Given the description of an element on the screen output the (x, y) to click on. 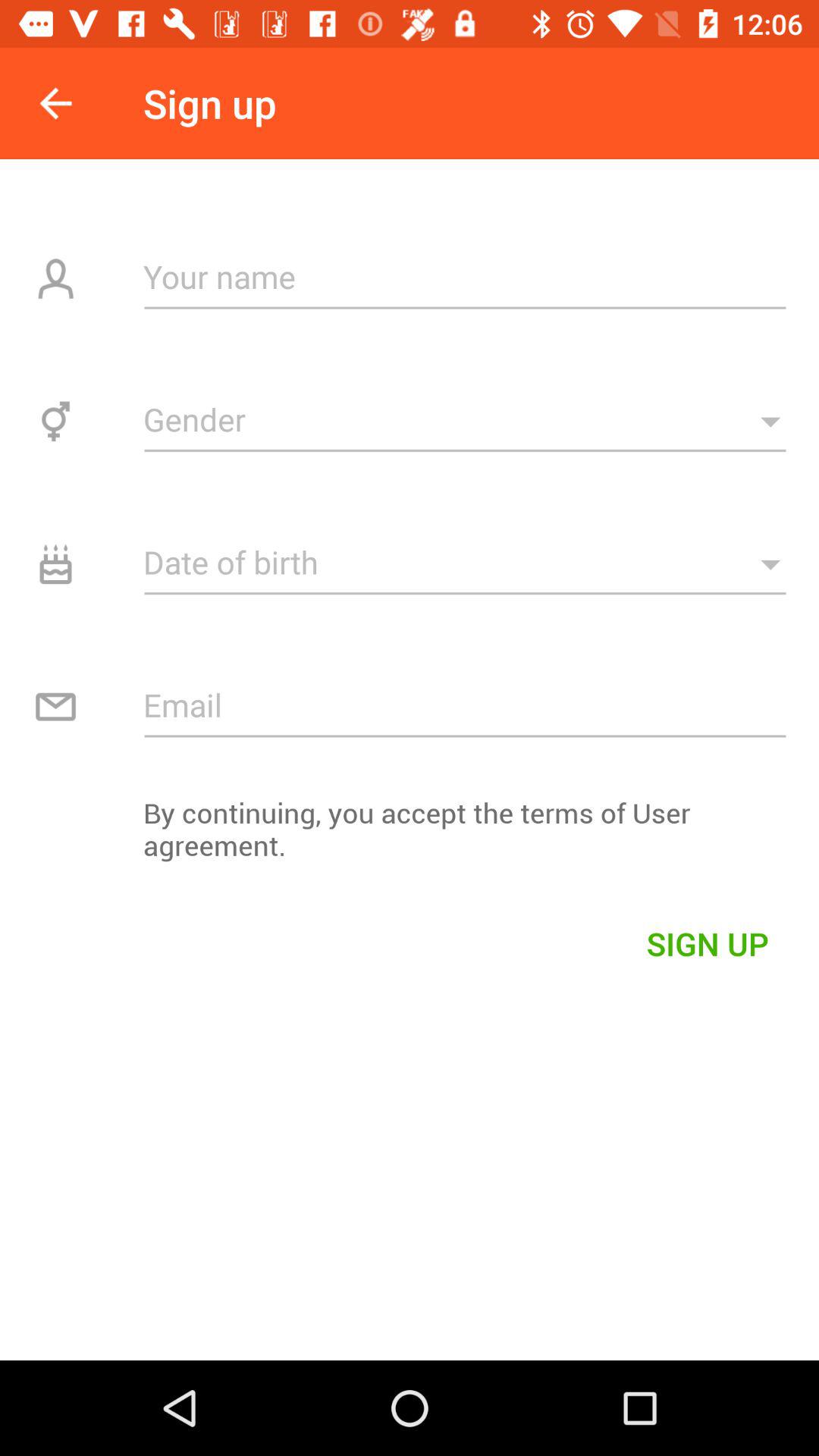
enter your name (465, 276)
